Given the description of an element on the screen output the (x, y) to click on. 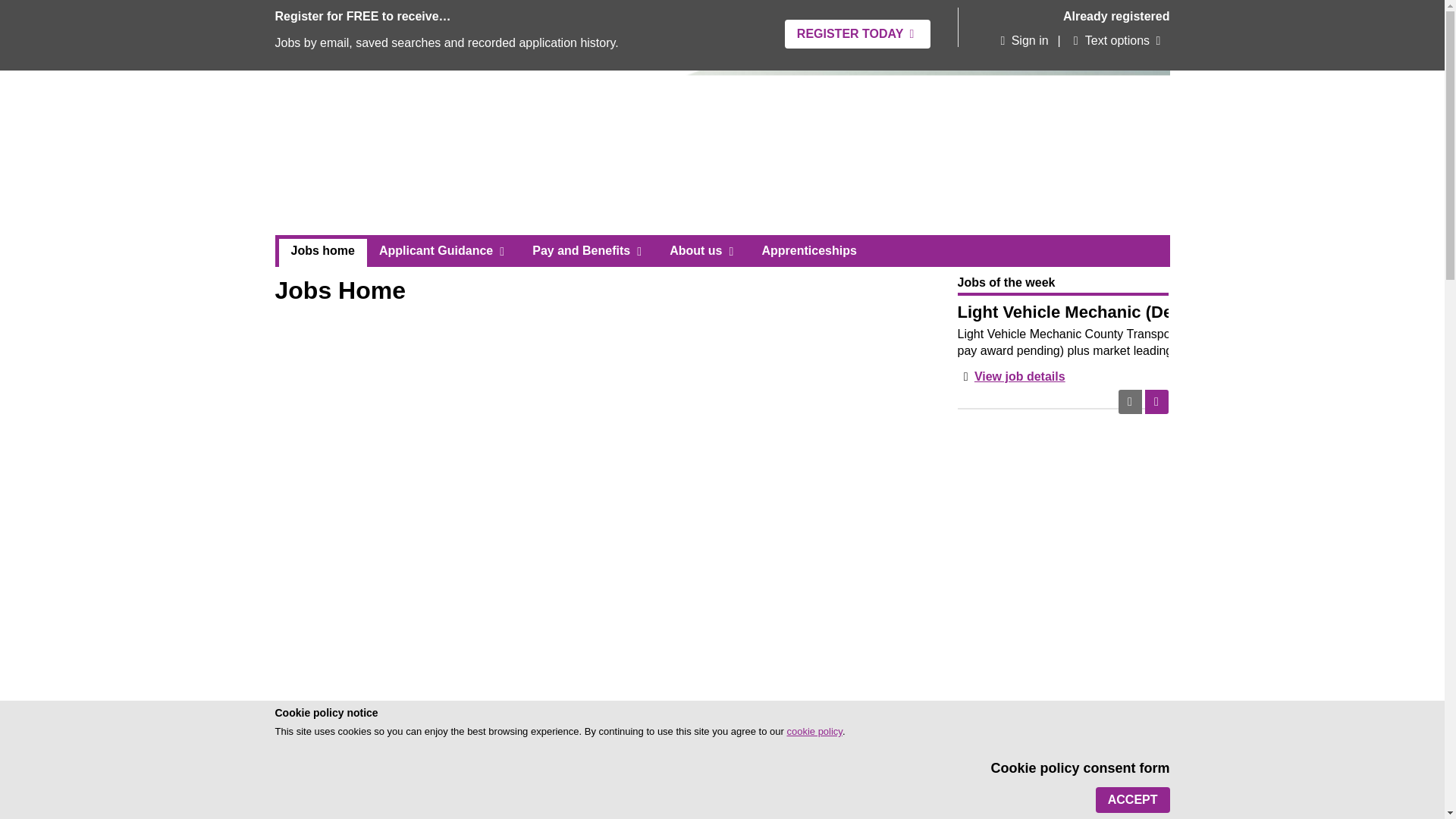
Pay and Benefits (588, 250)
REGISTER TODAY (857, 33)
Cookie Policy (813, 731)
Jobs home (322, 252)
Applicant Guidance (442, 250)
cookie policy (813, 731)
About us (703, 250)
Text options (1110, 40)
Sign in (1021, 40)
here (608, 812)
ACCEPT (1133, 800)
Apprenticeships (808, 250)
